Given the description of an element on the screen output the (x, y) to click on. 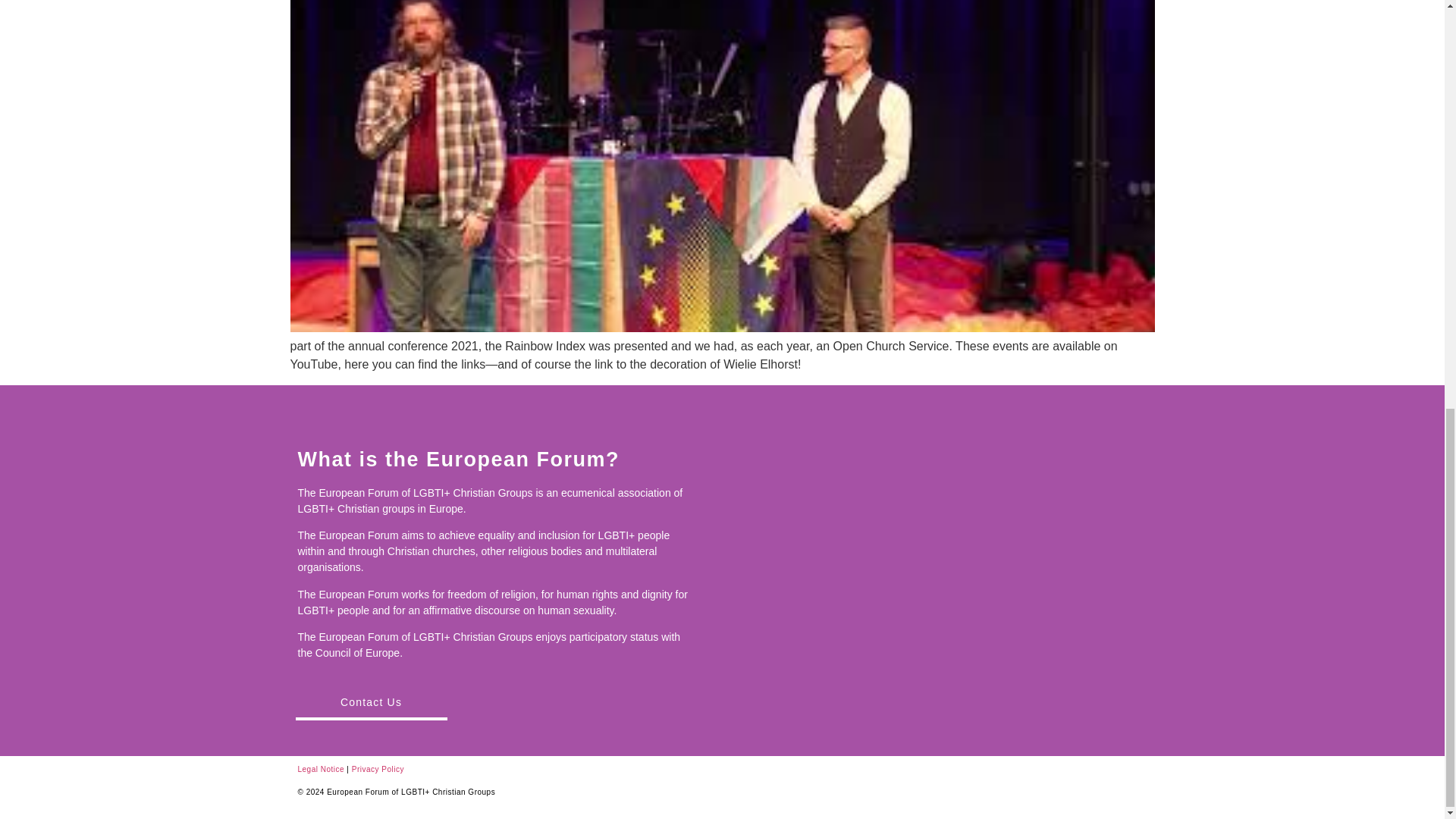
Legal Notice (320, 768)
Contact Us (370, 703)
Privacy Policy (378, 768)
